Given the description of an element on the screen output the (x, y) to click on. 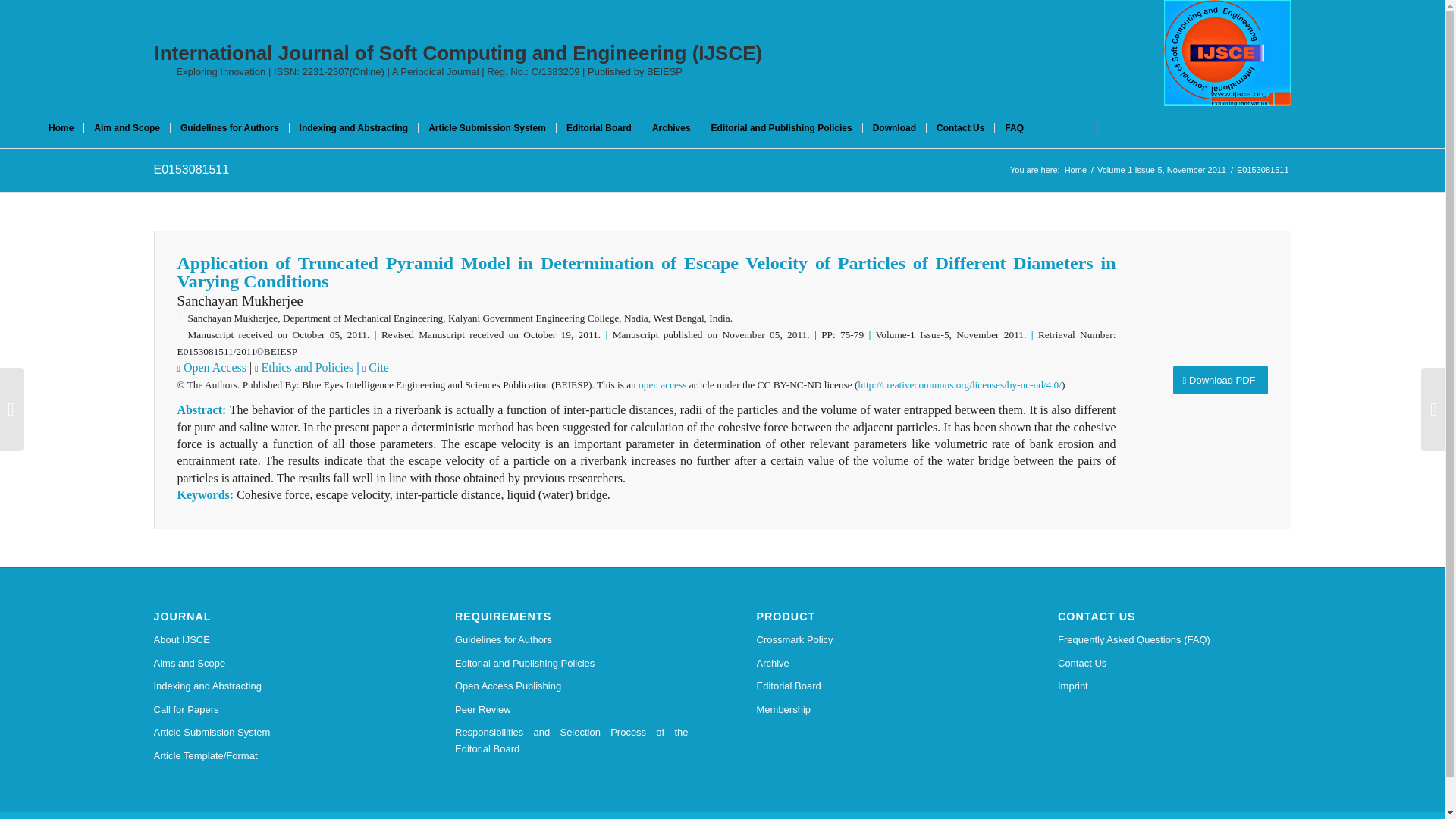
Aims and Scope (269, 662)
Guidelines for Authors (571, 639)
Editorial Board (599, 127)
FAQ (1013, 127)
Download (893, 127)
Guidelines for Authors (229, 127)
Aim and Scope (126, 127)
Home (1075, 170)
Open Access Publishing (571, 685)
open access (662, 384)
Home (60, 127)
About IJSCE (269, 639)
Permanent Link: E0153081511 (190, 169)
Peer Review (571, 709)
